Given the description of an element on the screen output the (x, y) to click on. 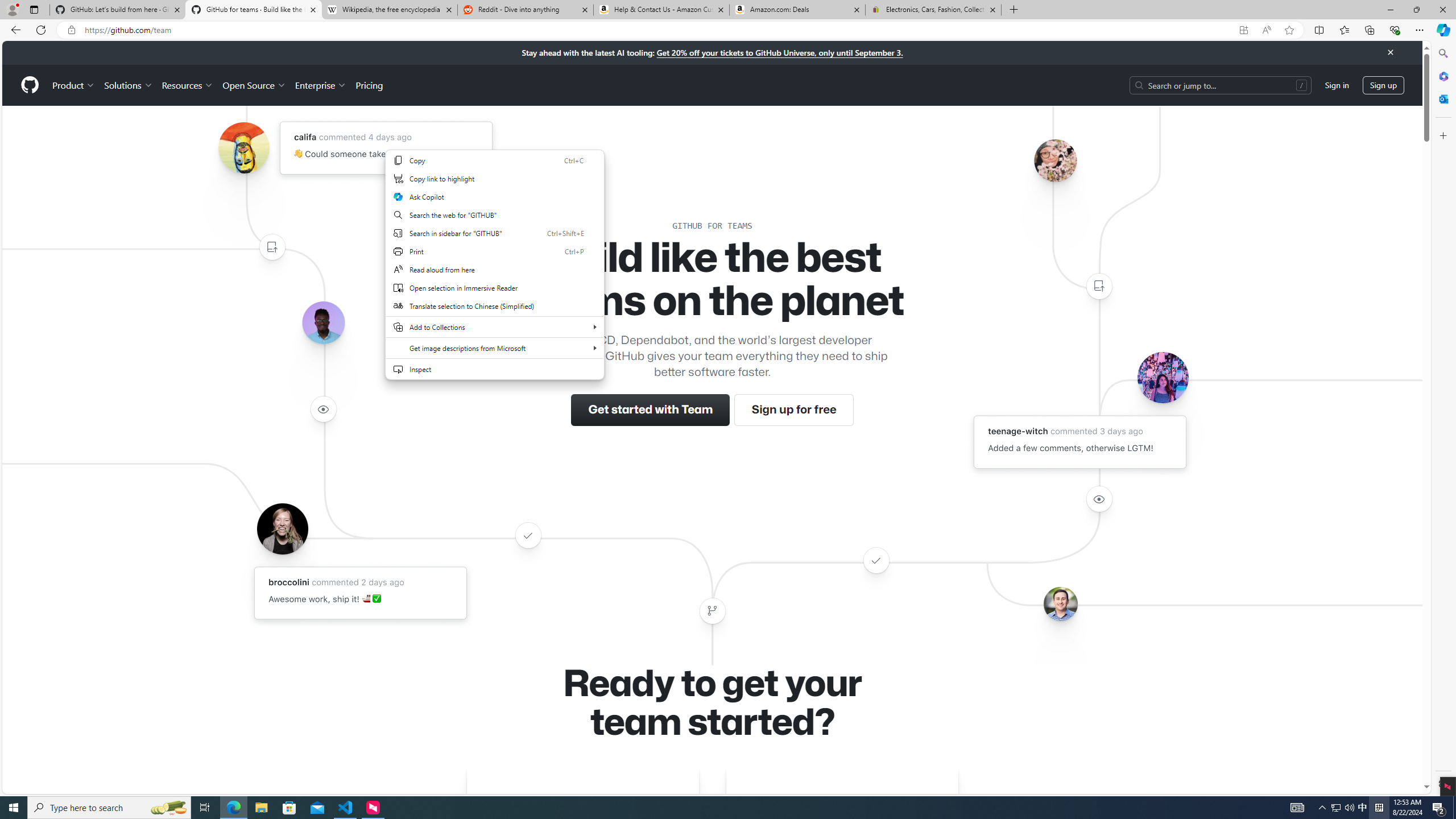
Amazon.com: Deals (797, 9)
Sign up (1382, 84)
Resources (187, 84)
Solutions (128, 84)
Product (74, 84)
Avatar of the user broccolini (282, 528)
Open selection in Immersive Reader (494, 287)
